Given the description of an element on the screen output the (x, y) to click on. 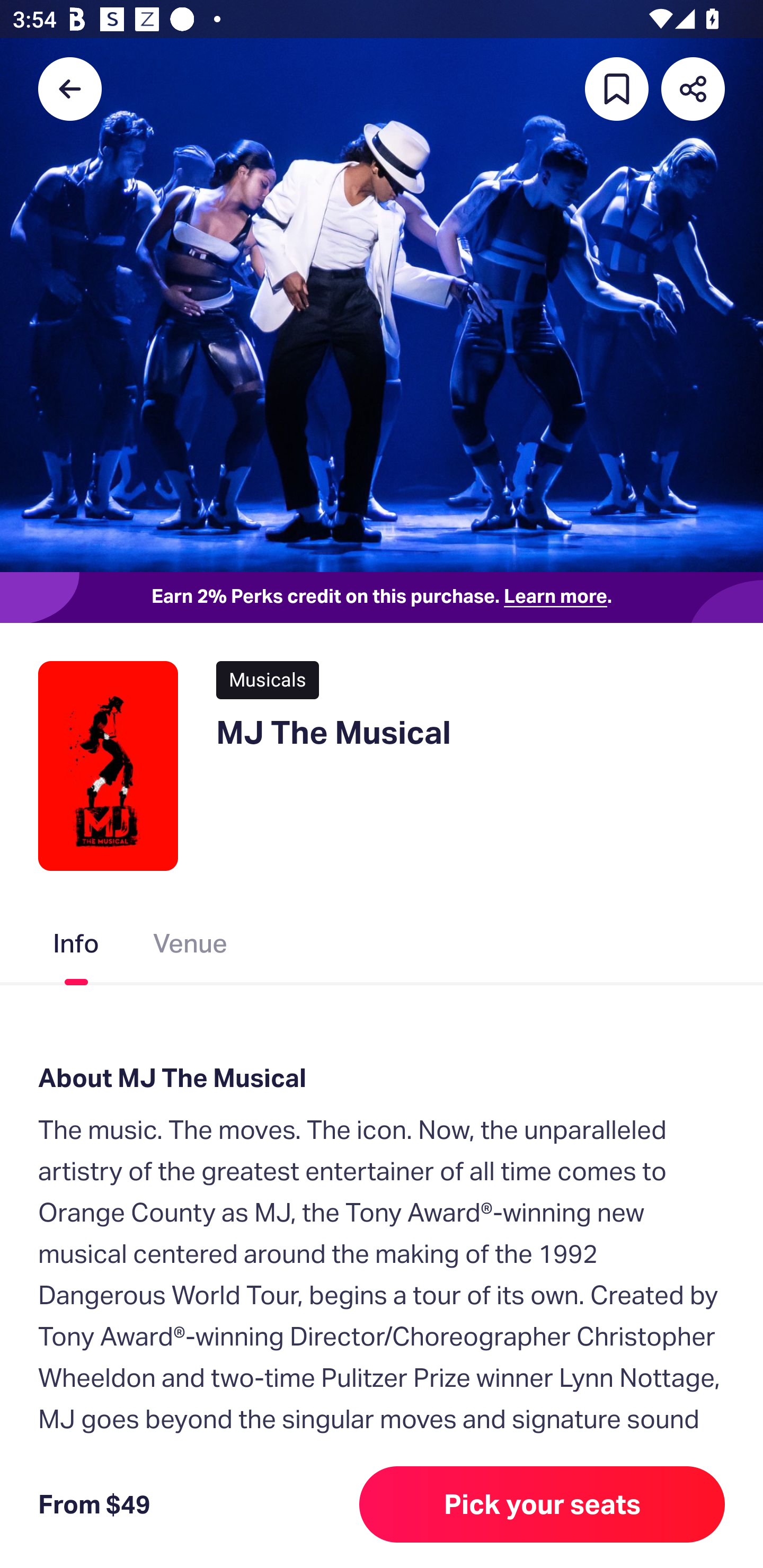
Earn 2% Perks credit on this purchase. Learn more. (381, 597)
Venue (190, 946)
About MJ The Musical (381, 1077)
Pick your seats (541, 1504)
